Given the description of an element on the screen output the (x, y) to click on. 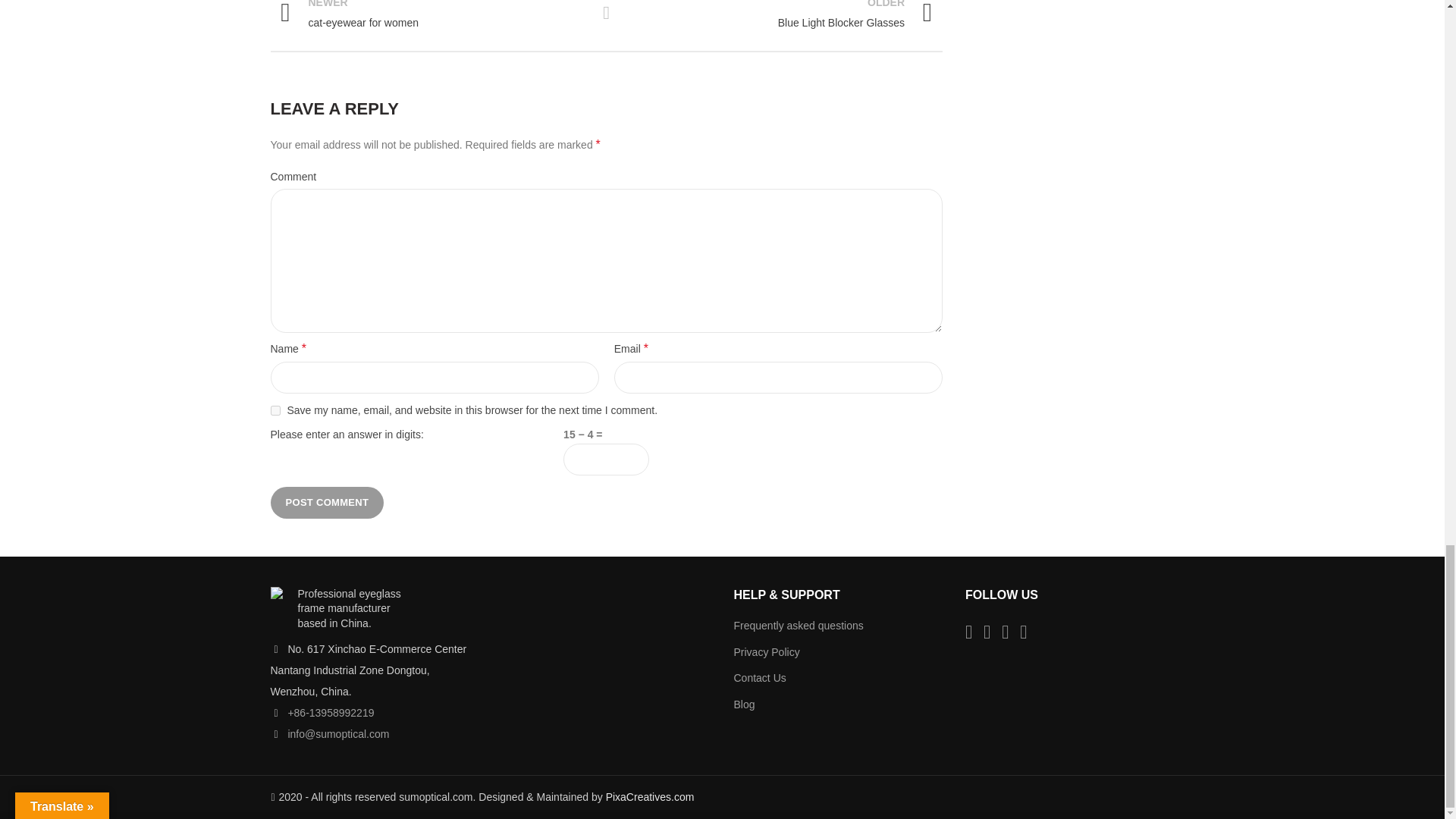
yes (431, 15)
Post Comment (274, 410)
Back to list (326, 502)
Post Comment (779, 15)
